Given the description of an element on the screen output the (x, y) to click on. 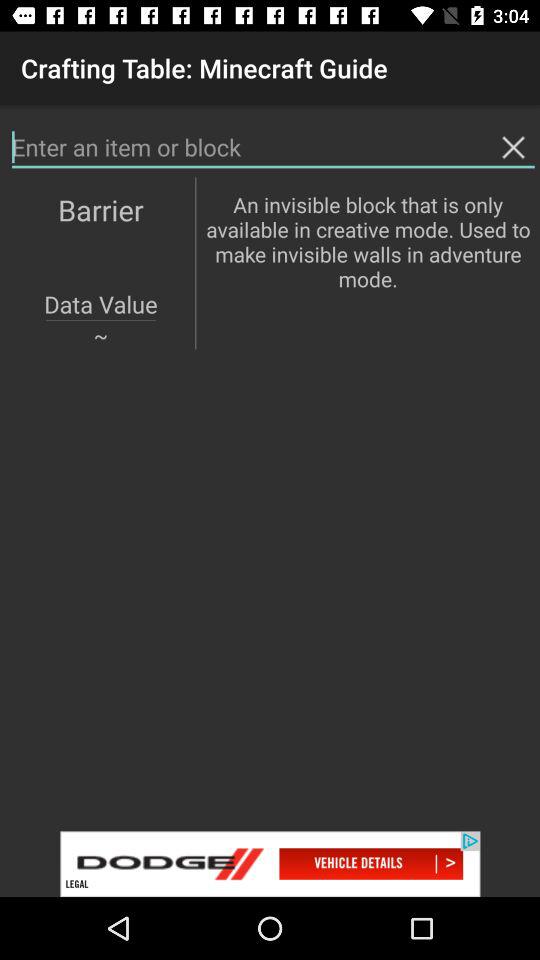
enter the searching word and close it option (273, 147)
